Given the description of an element on the screen output the (x, y) to click on. 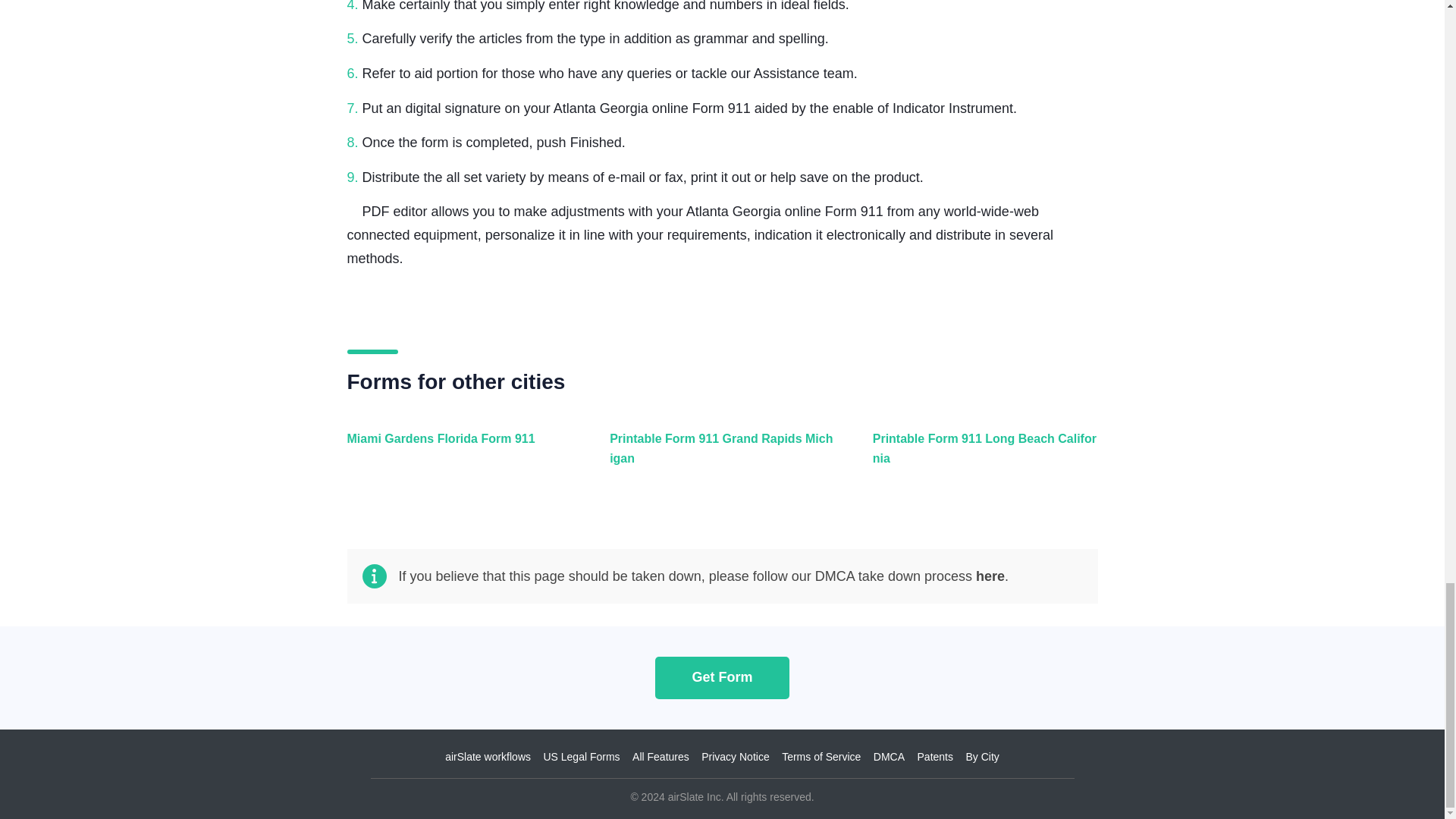
US Legal Forms (581, 756)
airSlate workflows (488, 756)
Printable Form 911 Long Beach California (981, 456)
By City (981, 756)
Printable Form 911 Grand Rapids Michigan (718, 456)
Get Form (722, 676)
Patents (935, 756)
Miami Gardens Florida Form 911 (456, 456)
All Features (659, 756)
Privacy Notice (734, 756)
here (989, 575)
Terms of Service (820, 756)
DMCA (888, 756)
